Given the description of an element on the screen output the (x, y) to click on. 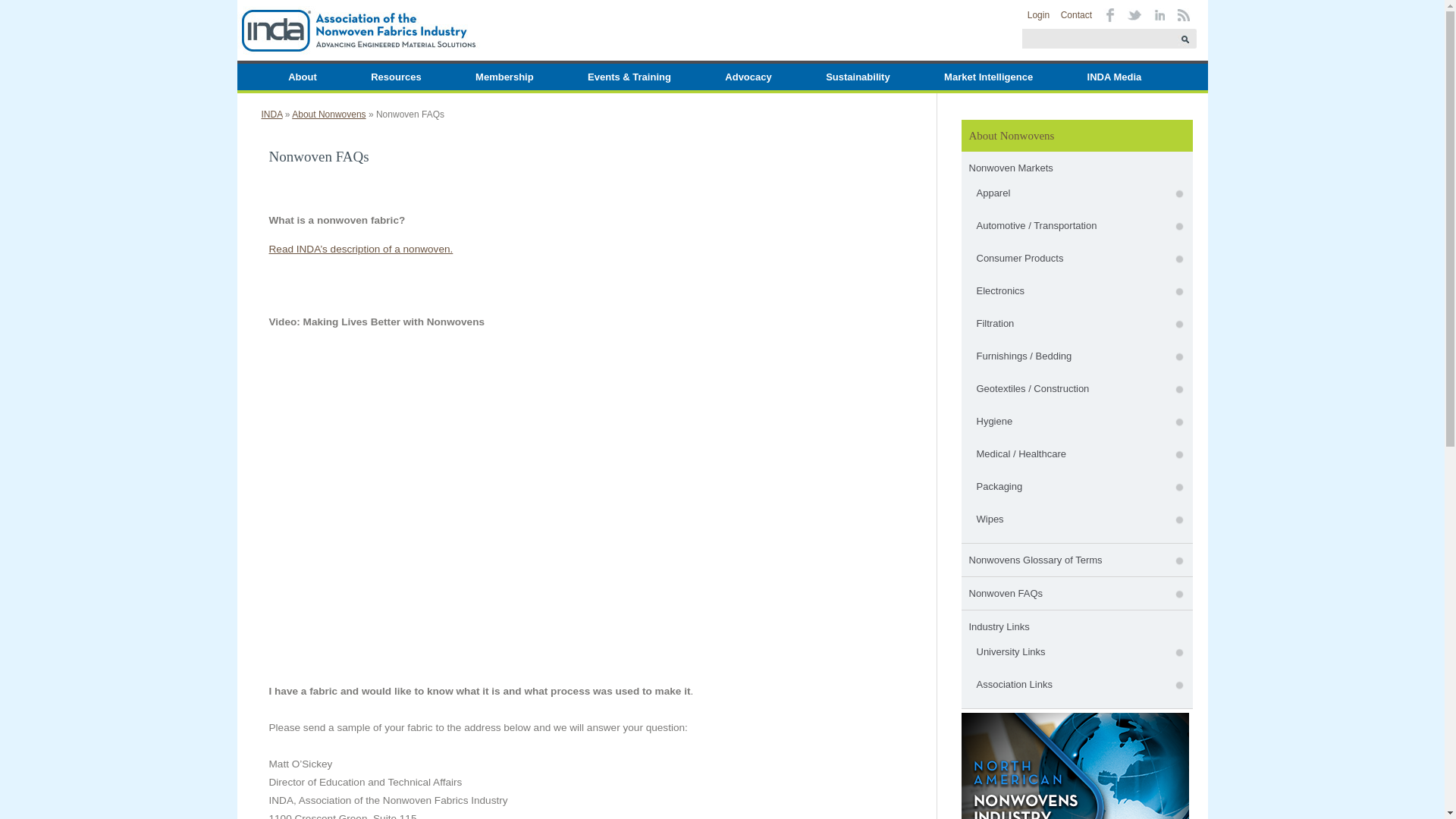
About (302, 76)
Go to INDA. (271, 113)
INDA LOGO (357, 30)
Resources (395, 76)
Go to About Nonwovens. (328, 113)
Login (1038, 14)
Contact (1076, 14)
